Given the description of an element on the screen output the (x, y) to click on. 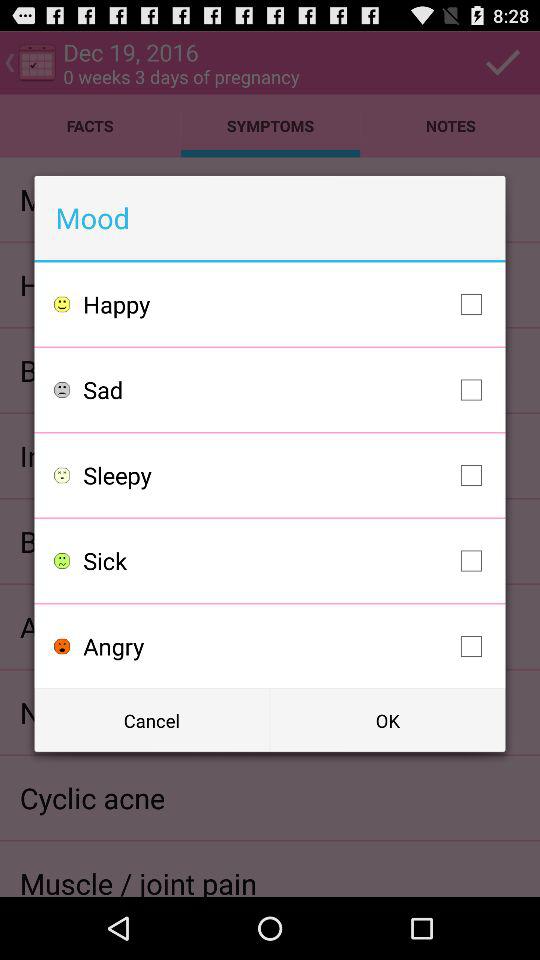
turn on the item above angry item (287, 560)
